Given the description of an element on the screen output the (x, y) to click on. 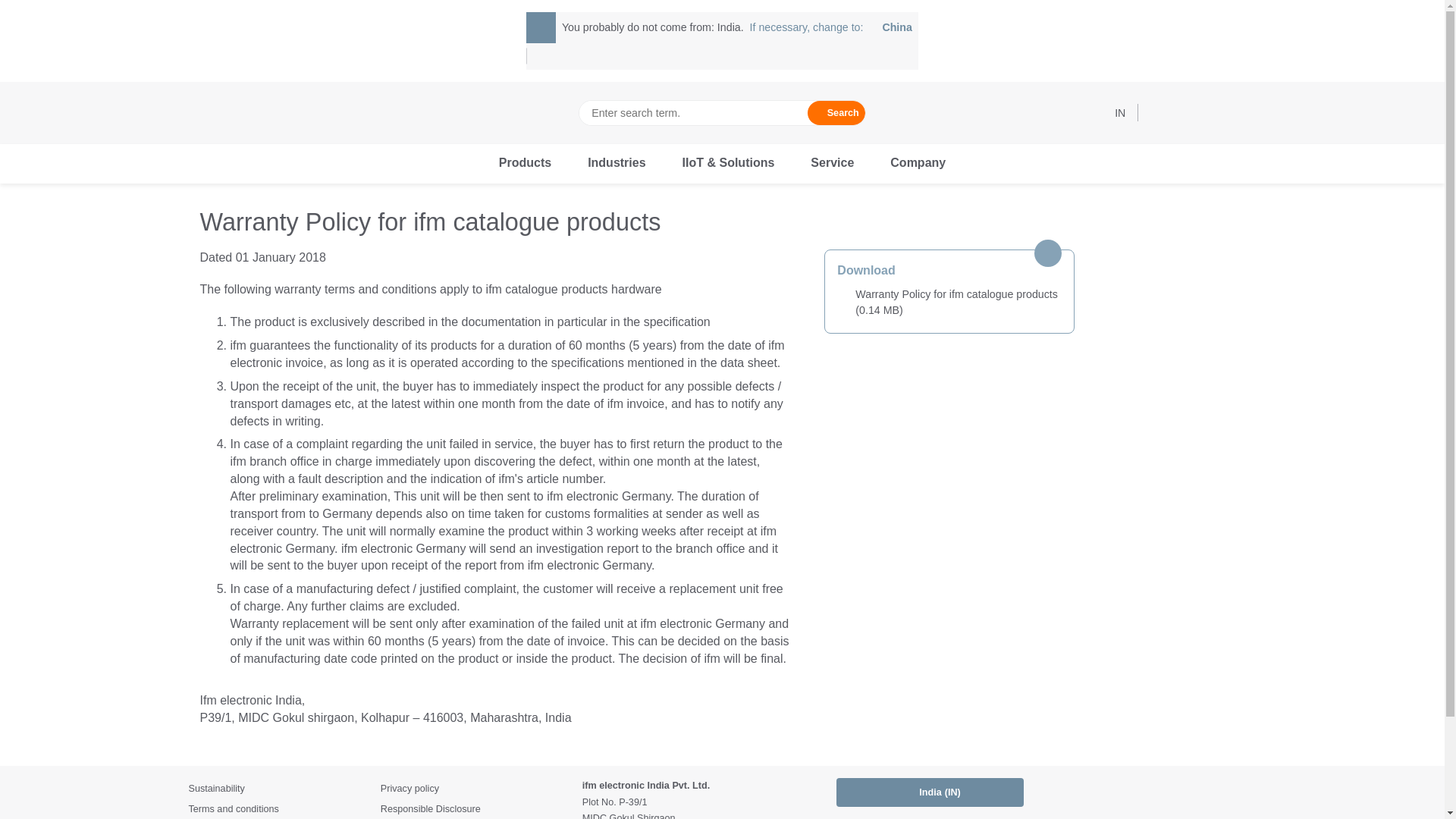
Responsible Disclosure (475, 808)
YouTube (1201, 791)
Service (832, 163)
Products (524, 163)
Privacy policy (475, 787)
Facebook (1090, 791)
Company (917, 163)
Twitter (1173, 791)
my ifm (830, 27)
